Given the description of an element on the screen output the (x, y) to click on. 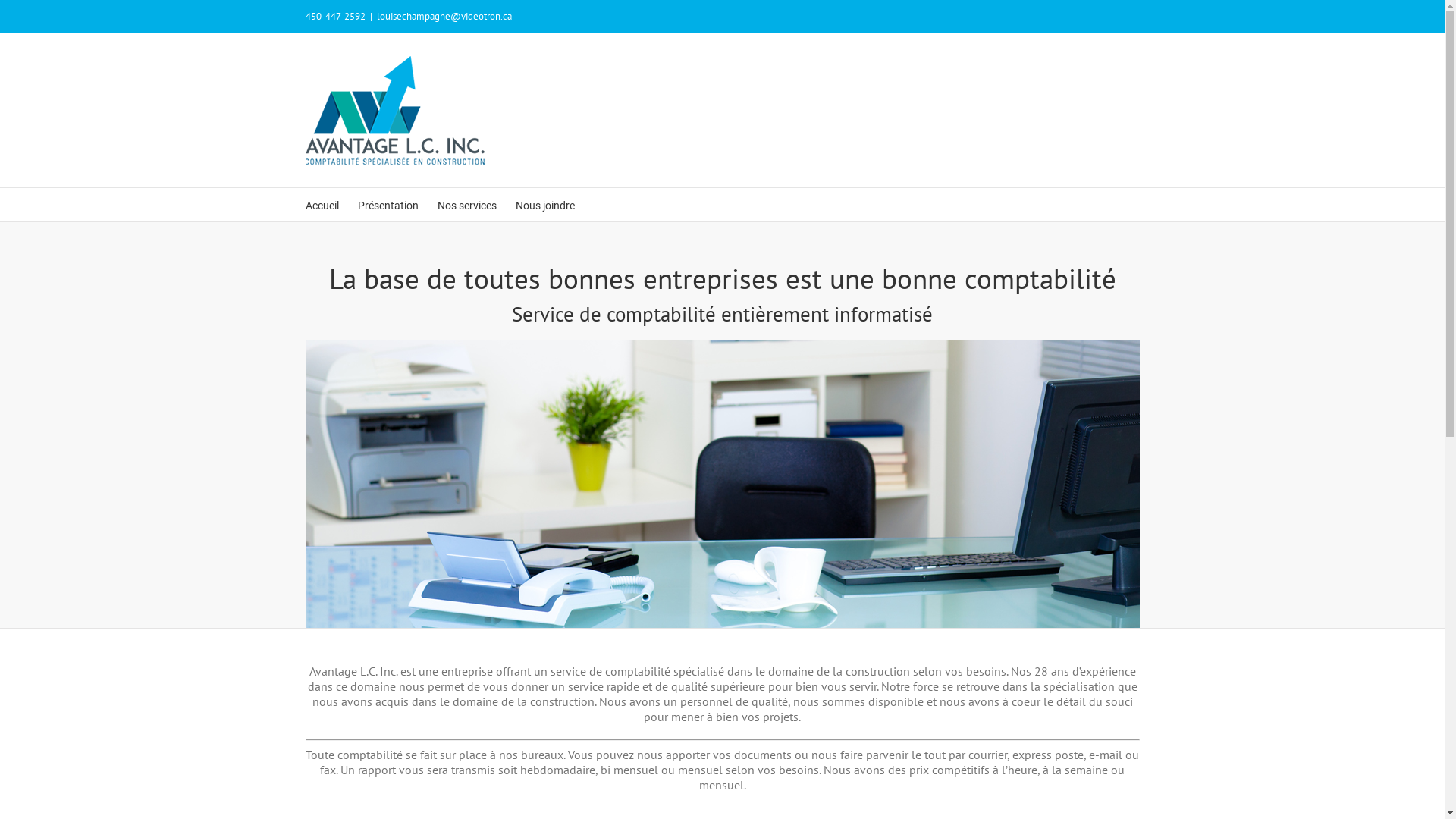
Nous joindre Element type: text (544, 204)
Accueil Element type: text (321, 204)
Nos services Element type: text (465, 204)
louisechampagne@videotron.ca Element type: text (443, 15)
